Given the description of an element on the screen output the (x, y) to click on. 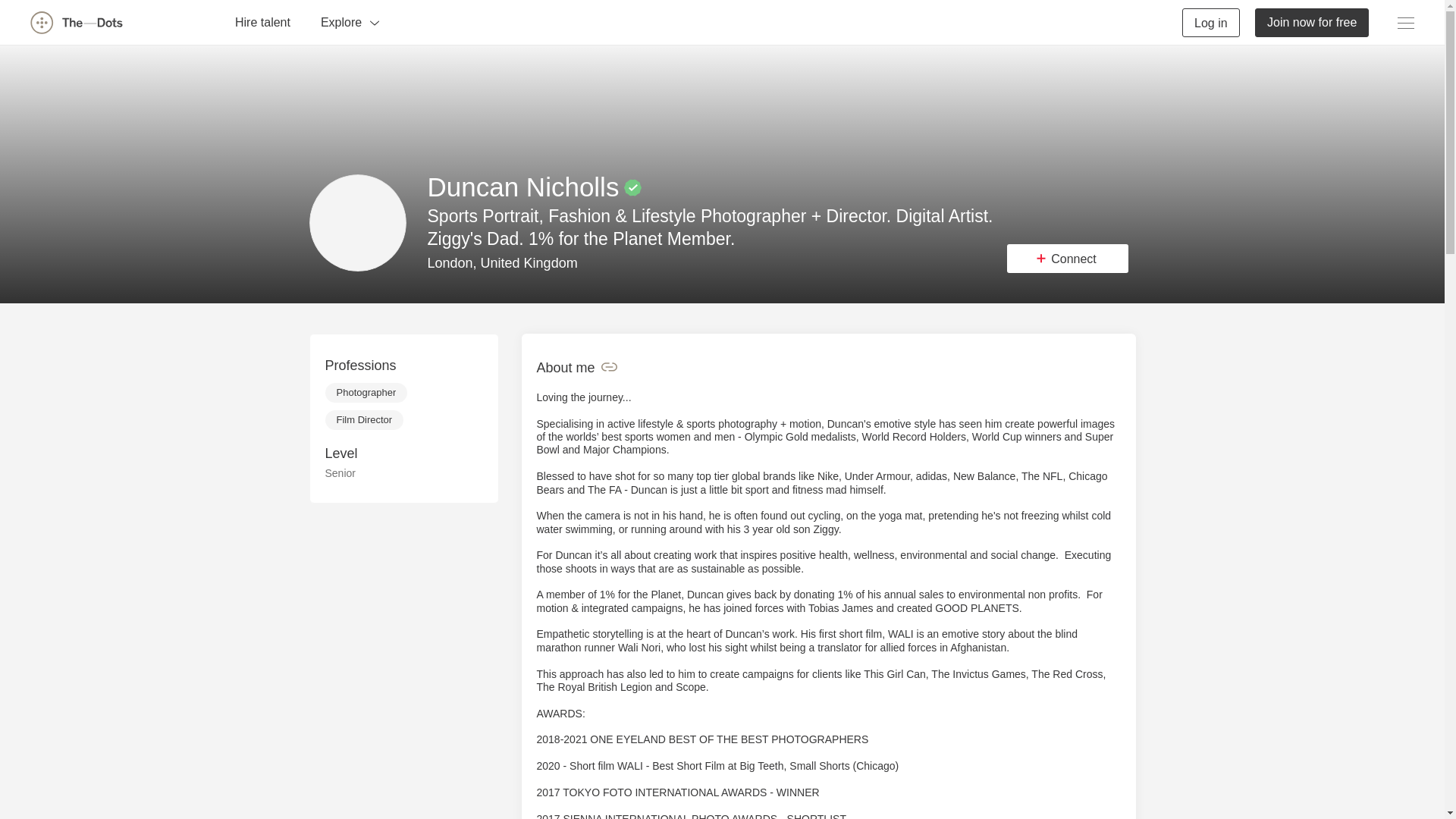
Log in (1211, 21)
Explore (350, 21)
This member has been verified! Want to be verified too? (633, 187)
Join now for free (1311, 21)
Connect (1067, 258)
Hire talent (261, 21)
